Given the description of an element on the screen output the (x, y) to click on. 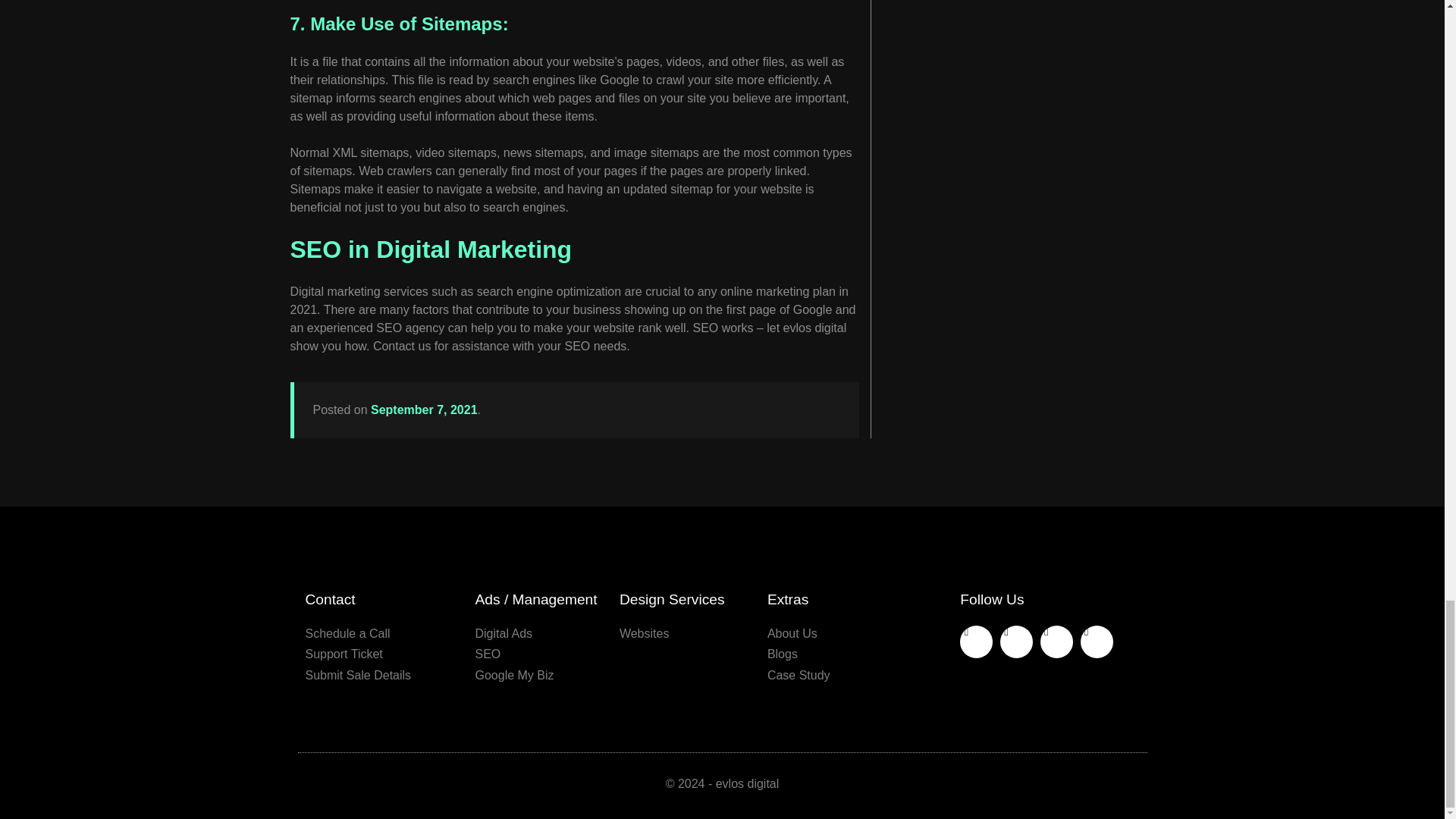
Digital Ads (539, 633)
Schedule a Call (382, 633)
September 7, 2021 (424, 409)
Support Ticket (382, 654)
Case Study (831, 674)
Websites (686, 633)
Blogs (831, 654)
Google My Biz (539, 674)
Submit Sale Details (382, 674)
About Us (831, 633)
SEO (539, 654)
